Given the description of an element on the screen output the (x, y) to click on. 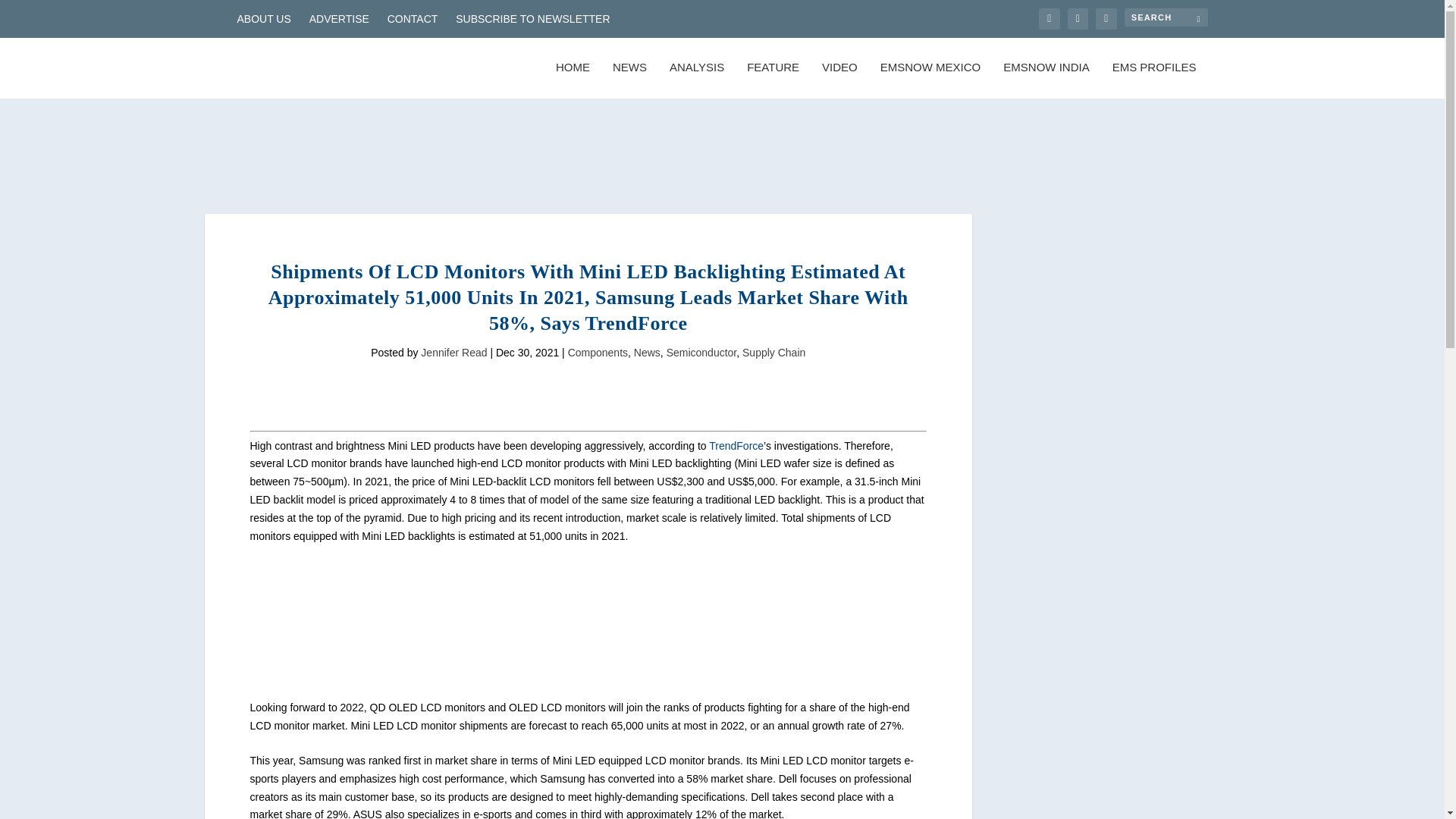
VIDEO (839, 79)
Search for: (1165, 17)
ADVERTISE (338, 18)
Components (597, 352)
News (647, 352)
NEWS (629, 79)
EMSNOW INDIA (1046, 79)
EMSNOW MEXICO (930, 79)
CONTACT (412, 18)
TrendForce (735, 445)
ANALYSIS (696, 79)
HOME (572, 79)
Supply Chain (773, 352)
Semiconductor (701, 352)
EMS PROFILES (1154, 79)
